Given the description of an element on the screen output the (x, y) to click on. 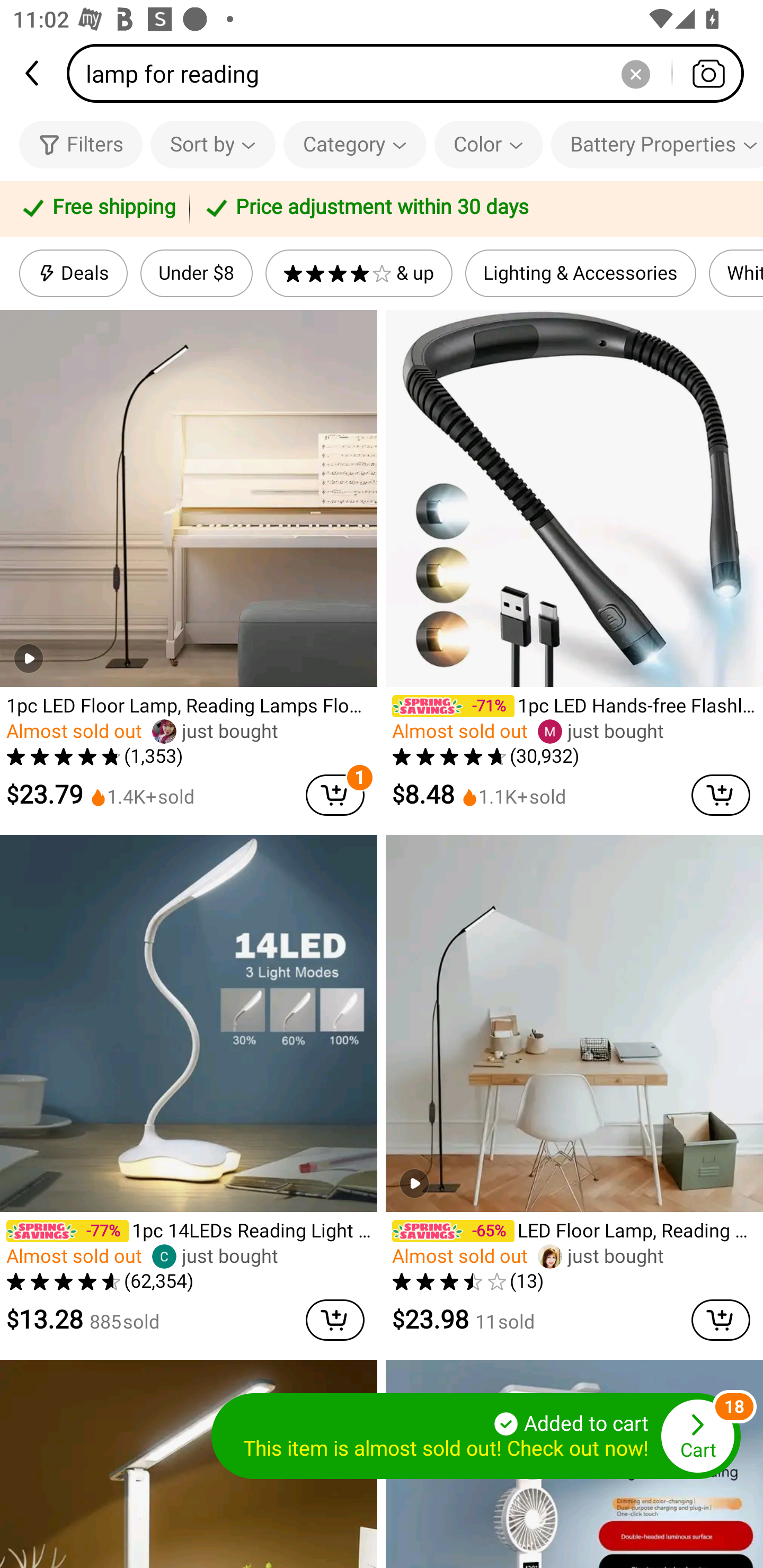
back (33, 72)
lamp for reading (411, 73)
Delete search history (635, 73)
Search by photo (708, 73)
Filters (80, 143)
Sort by (212, 143)
Category (354, 143)
Color (488, 143)
Battery Properties (656, 143)
Free shipping (97, 208)
Price adjustment within 30 days (472, 208)
Deals (73, 273)
Under $8 (196, 273)
& up (358, 273)
Lighting & Accessories (580, 273)
cart delete (334, 794)
cart delete (720, 794)
cart delete (334, 1319)
cart delete (720, 1319)
